Given the description of an element on the screen output the (x, y) to click on. 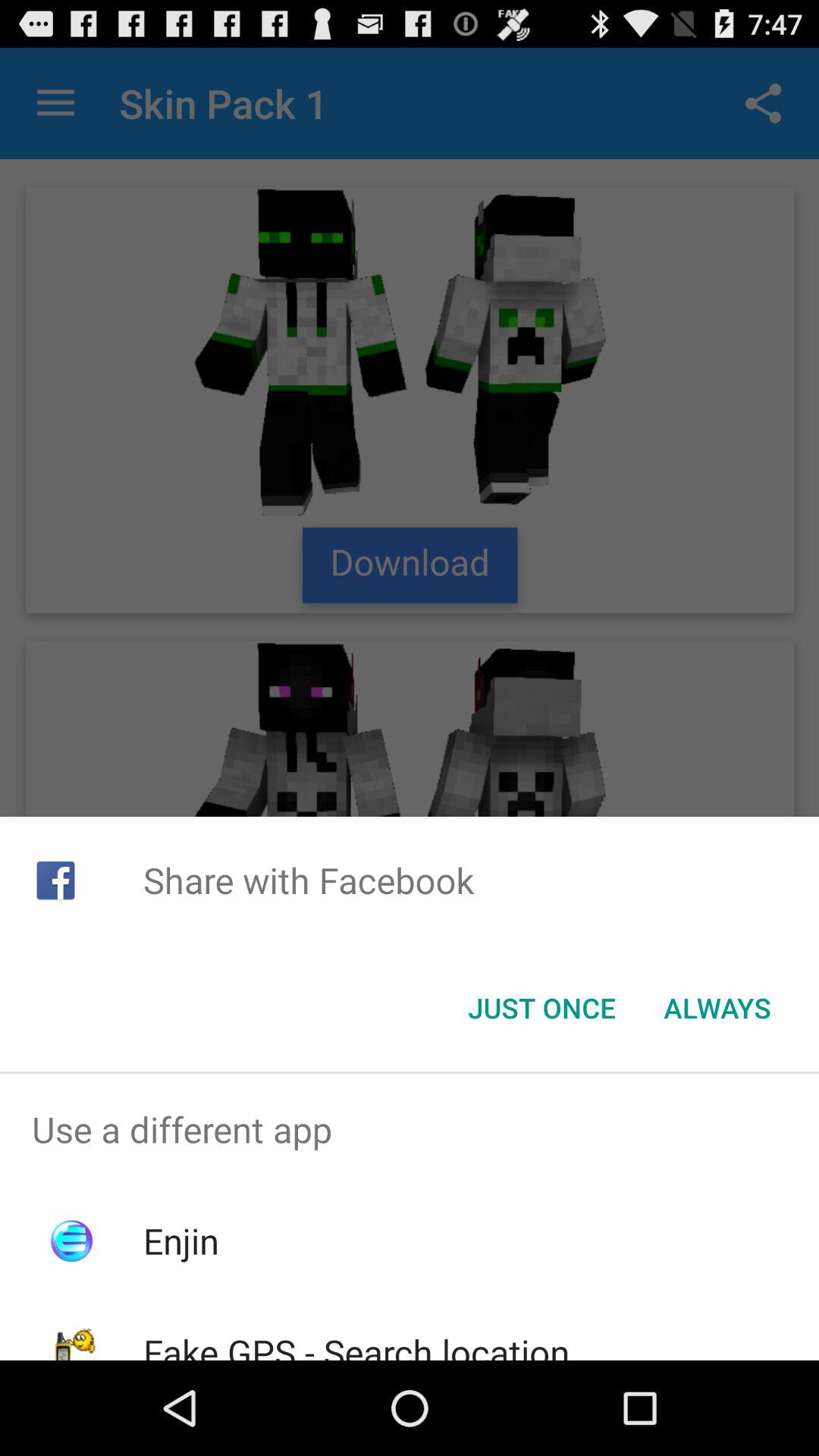
tap the icon below share with facebook icon (541, 1007)
